Given the description of an element on the screen output the (x, y) to click on. 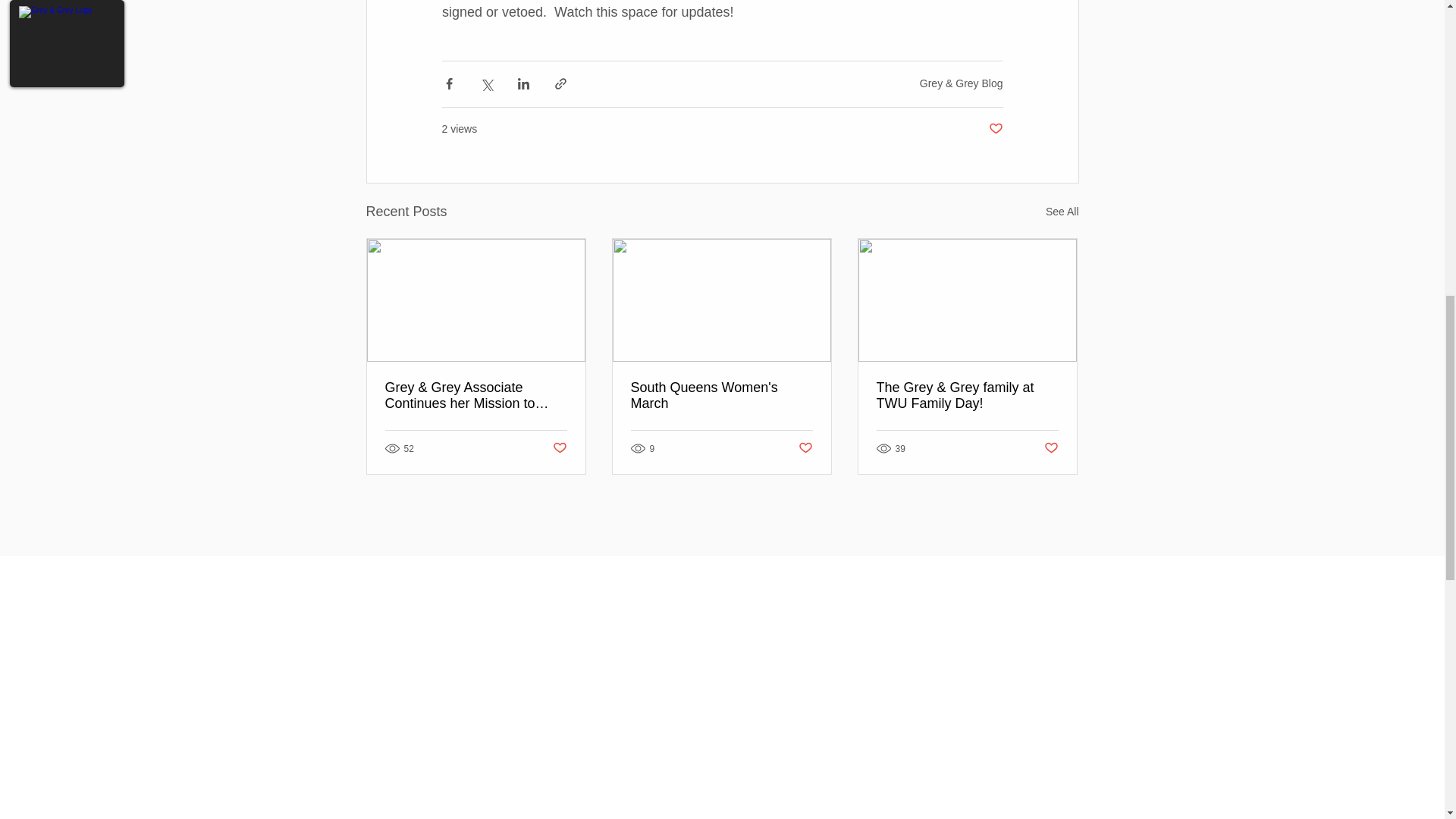
South Queens Women's March (721, 395)
Post not marked as liked (995, 129)
Post not marked as liked (558, 448)
Post not marked as liked (804, 448)
Post not marked as liked (1050, 448)
See All (1061, 211)
